Given the description of an element on the screen output the (x, y) to click on. 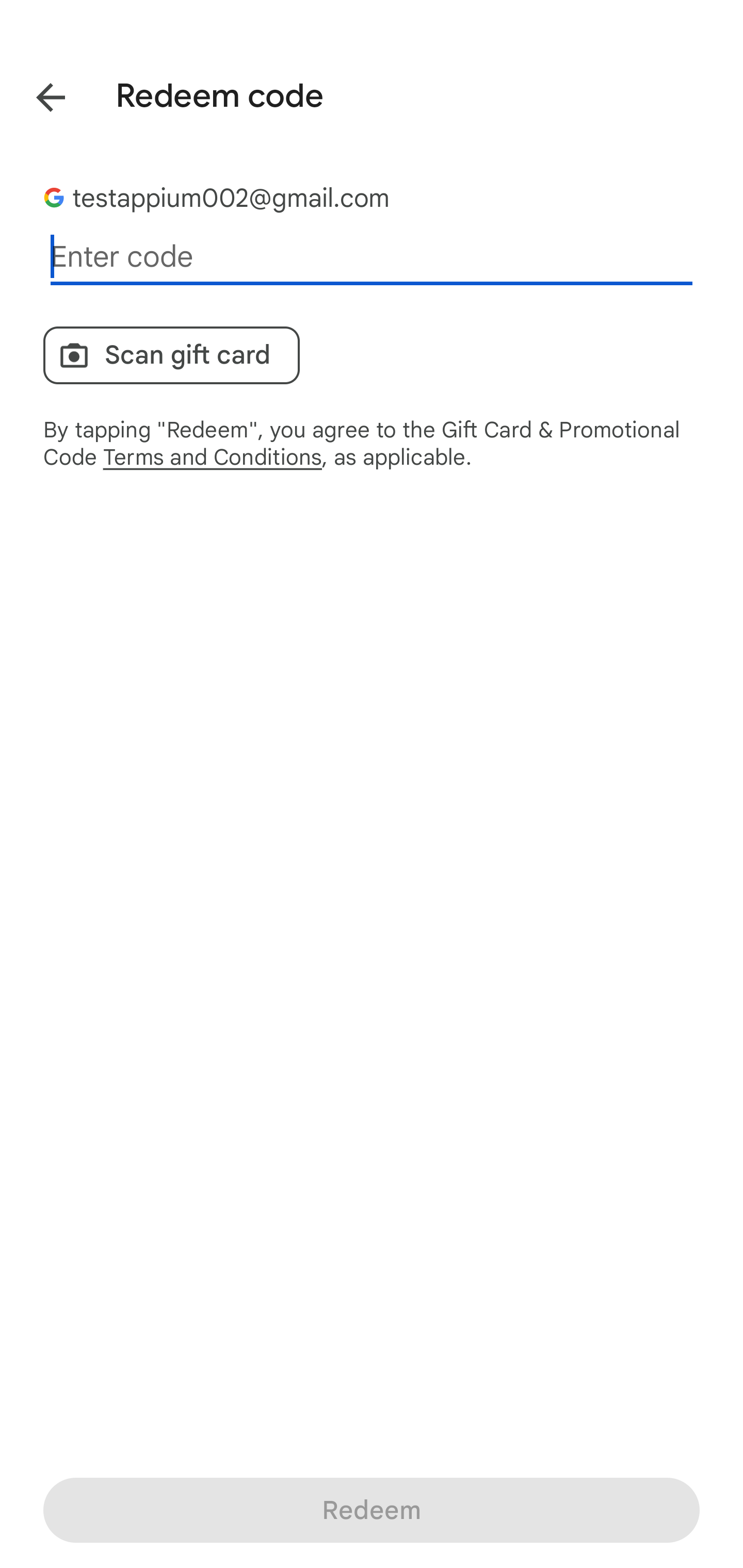
Back (36, 94)
Enter code (371, 256)
Scan gift card (171, 355)
